Given the description of an element on the screen output the (x, y) to click on. 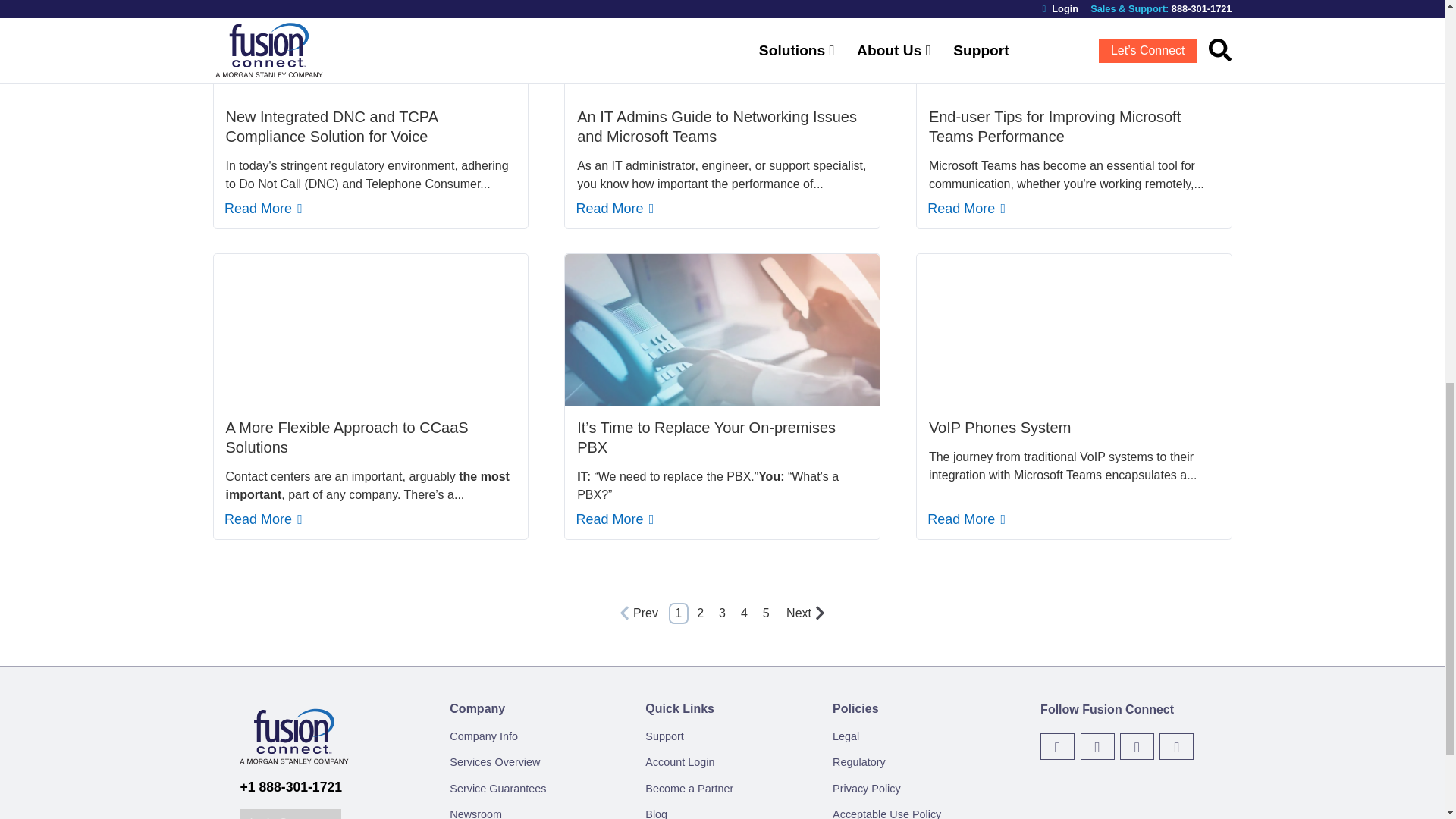
Fusion Connect LinkedIn (1175, 746)
Fusion Connect Facebook (1097, 746)
Fusion Connect Twitter (1057, 746)
Fusion Connect - A Morgan Stanley Company (292, 768)
Fusion Connect YouTube (1136, 746)
